Given the description of an element on the screen output the (x, y) to click on. 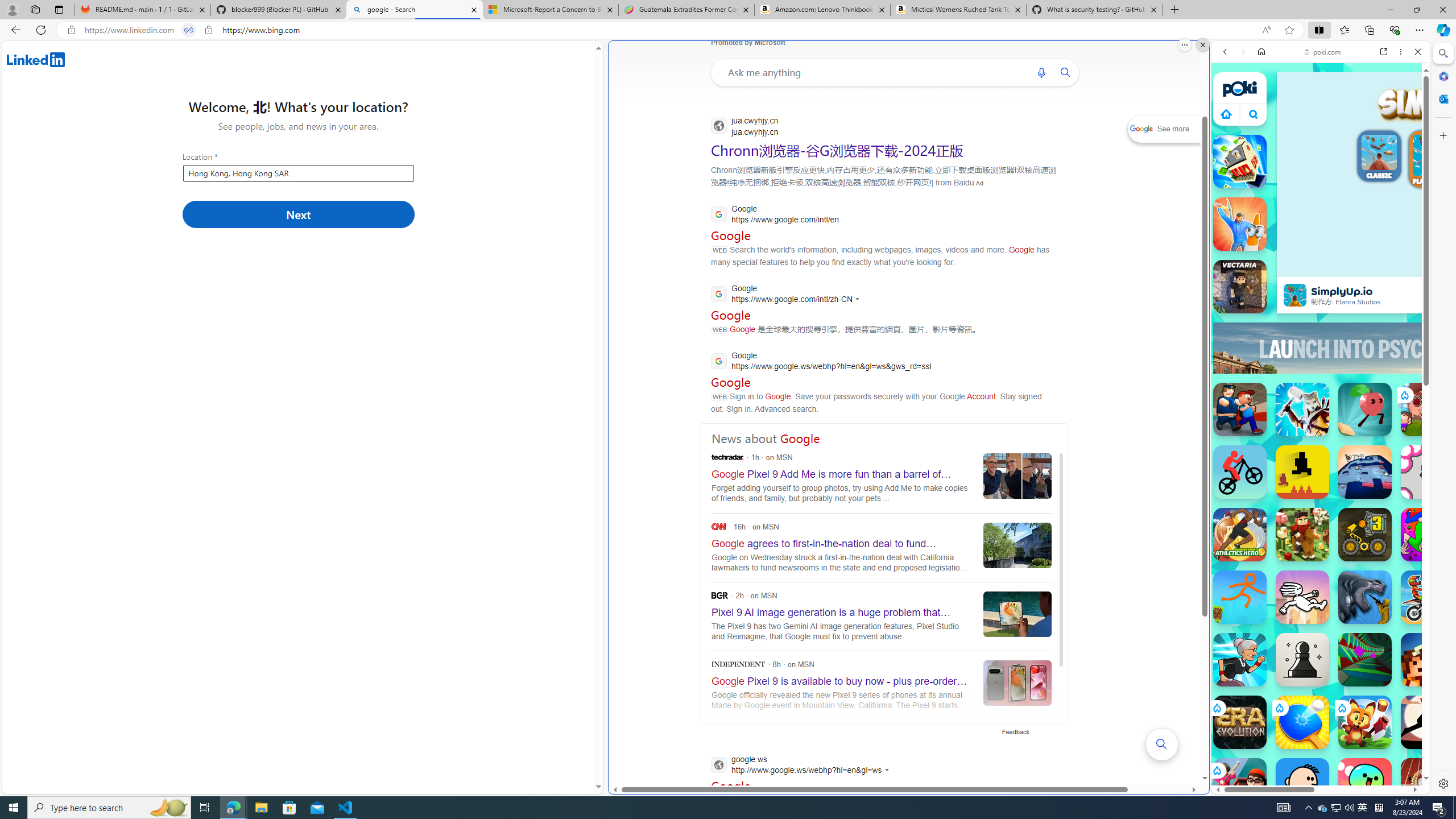
BoxRob 3 (1364, 534)
Poor Eddie Poor Eddie (1302, 784)
Simply Prop Hunt (1239, 223)
Hills of Steel (1253, 574)
CLASSIC (1378, 157)
Vectaria.io (1239, 286)
Athletics Hero (1239, 534)
Io Games (1320, 350)
Combat Reloaded (1348, 574)
